Given the description of an element on the screen output the (x, y) to click on. 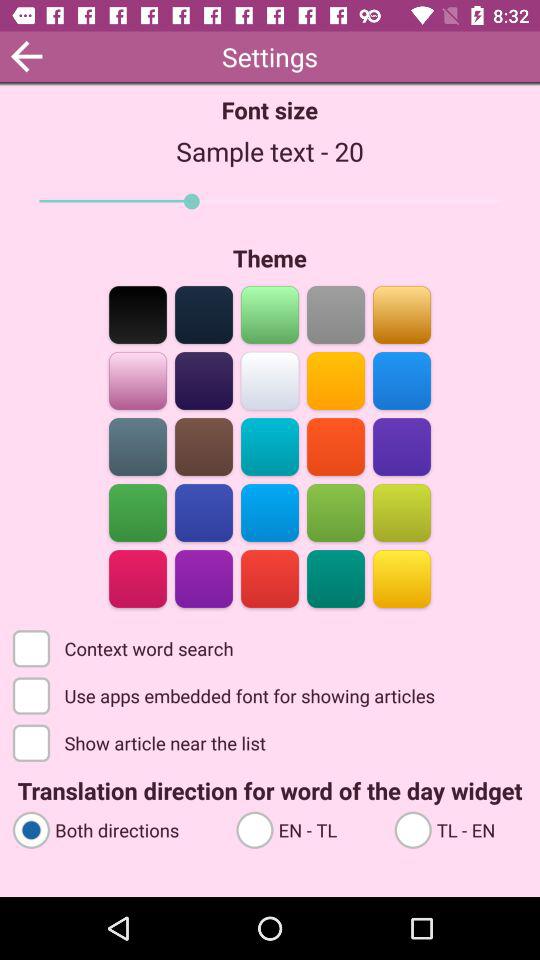
turn on the app next to the font size app (26, 56)
